Given the description of an element on the screen output the (x, y) to click on. 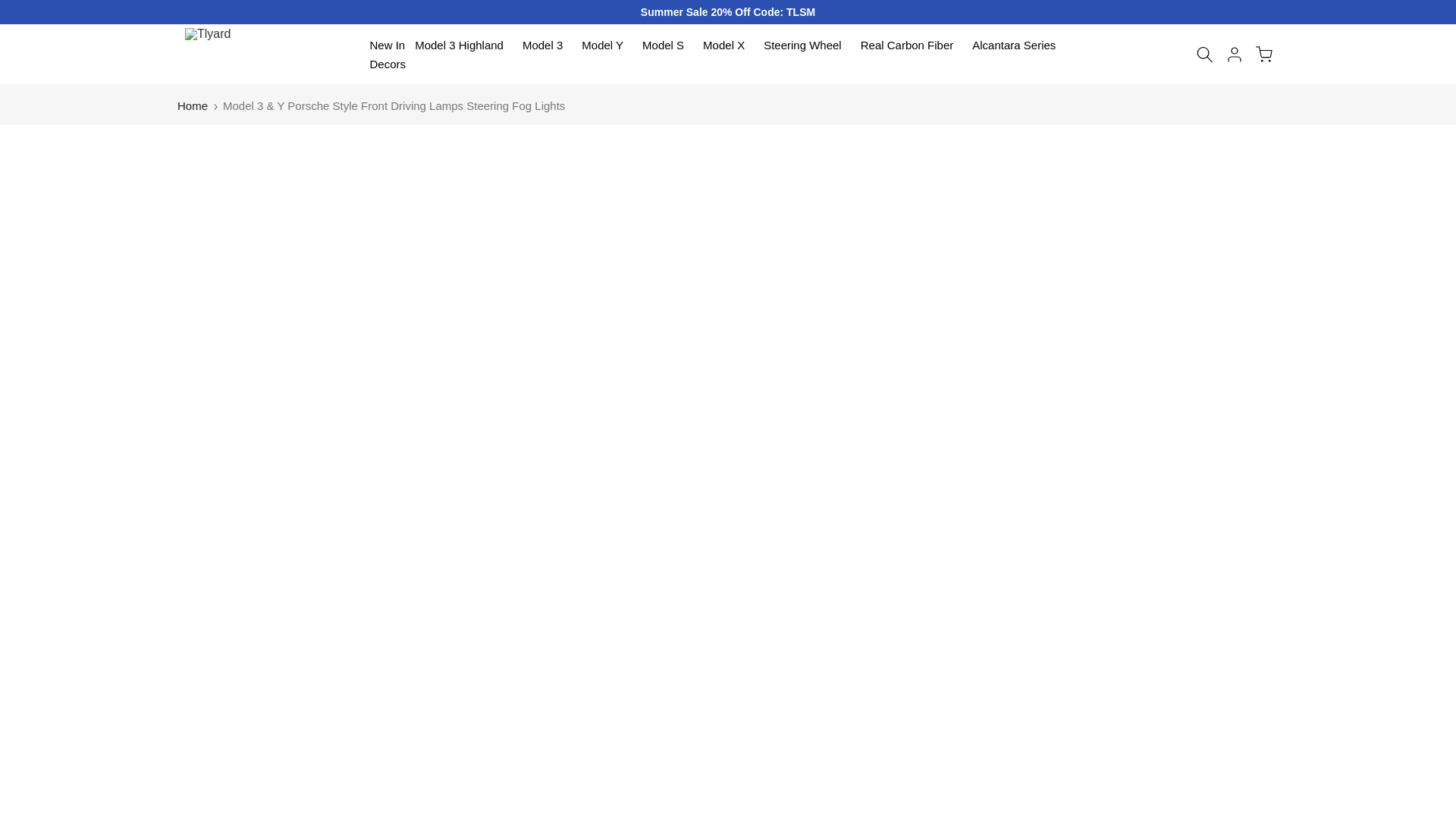
Model 3 Highland (464, 45)
New In (387, 45)
Model 3 (546, 45)
Alcantara Series (1014, 45)
Skip to content (10, 7)
Model Y (606, 45)
Steering Wheel (807, 45)
Home (192, 105)
Decors (387, 63)
Model S (667, 45)
Model X (728, 45)
Real Carbon Fiber (912, 45)
